Given the description of an element on the screen output the (x, y) to click on. 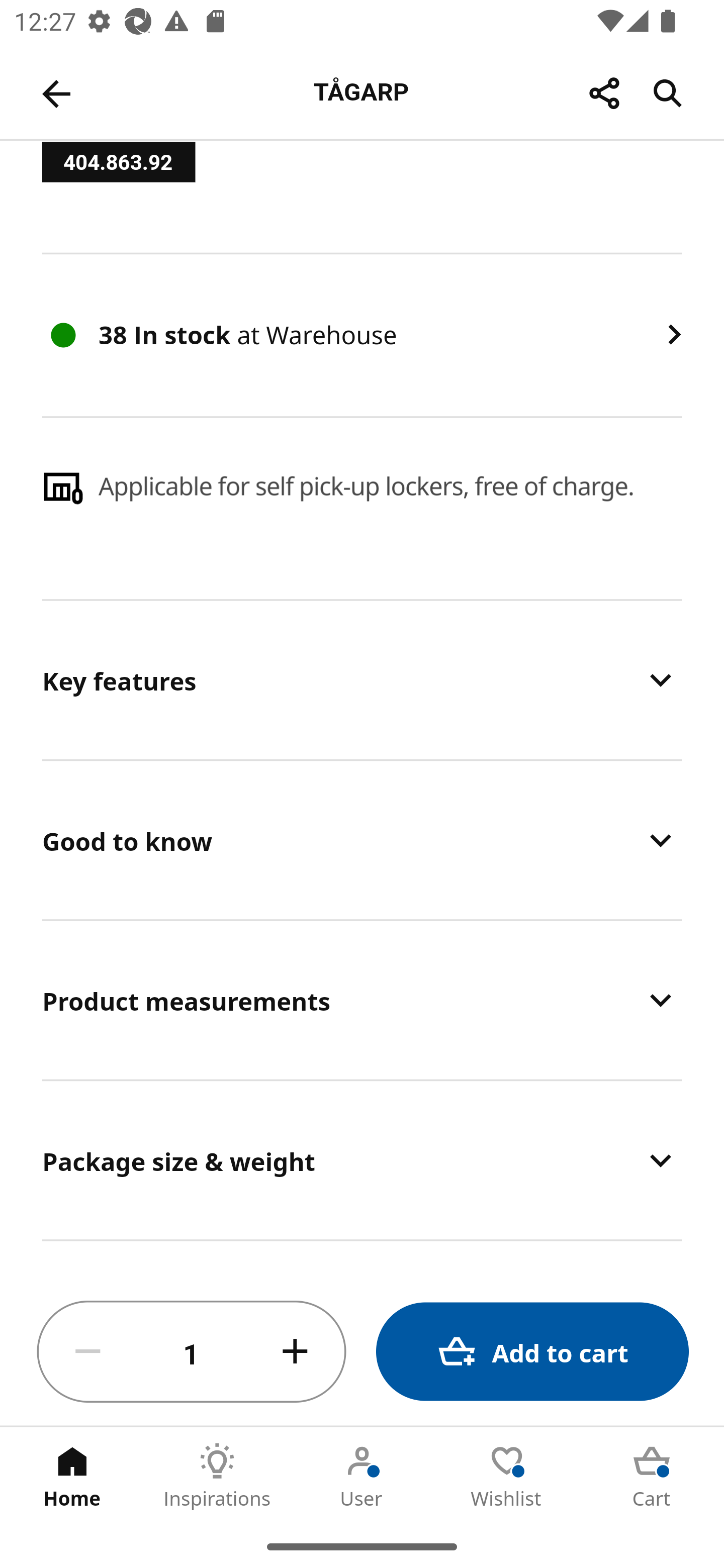
38 In stock at Warehouse (361, 334)
Key features (361, 679)
Good to know (361, 840)
Product measurements (361, 999)
Package size & weight (361, 1160)
Add to cart (531, 1352)
1 (191, 1352)
Home
Tab 1 of 5 (72, 1476)
Inspirations
Tab 2 of 5 (216, 1476)
User
Tab 3 of 5 (361, 1476)
Wishlist
Tab 4 of 5 (506, 1476)
Cart
Tab 5 of 5 (651, 1476)
